Given the description of an element on the screen output the (x, y) to click on. 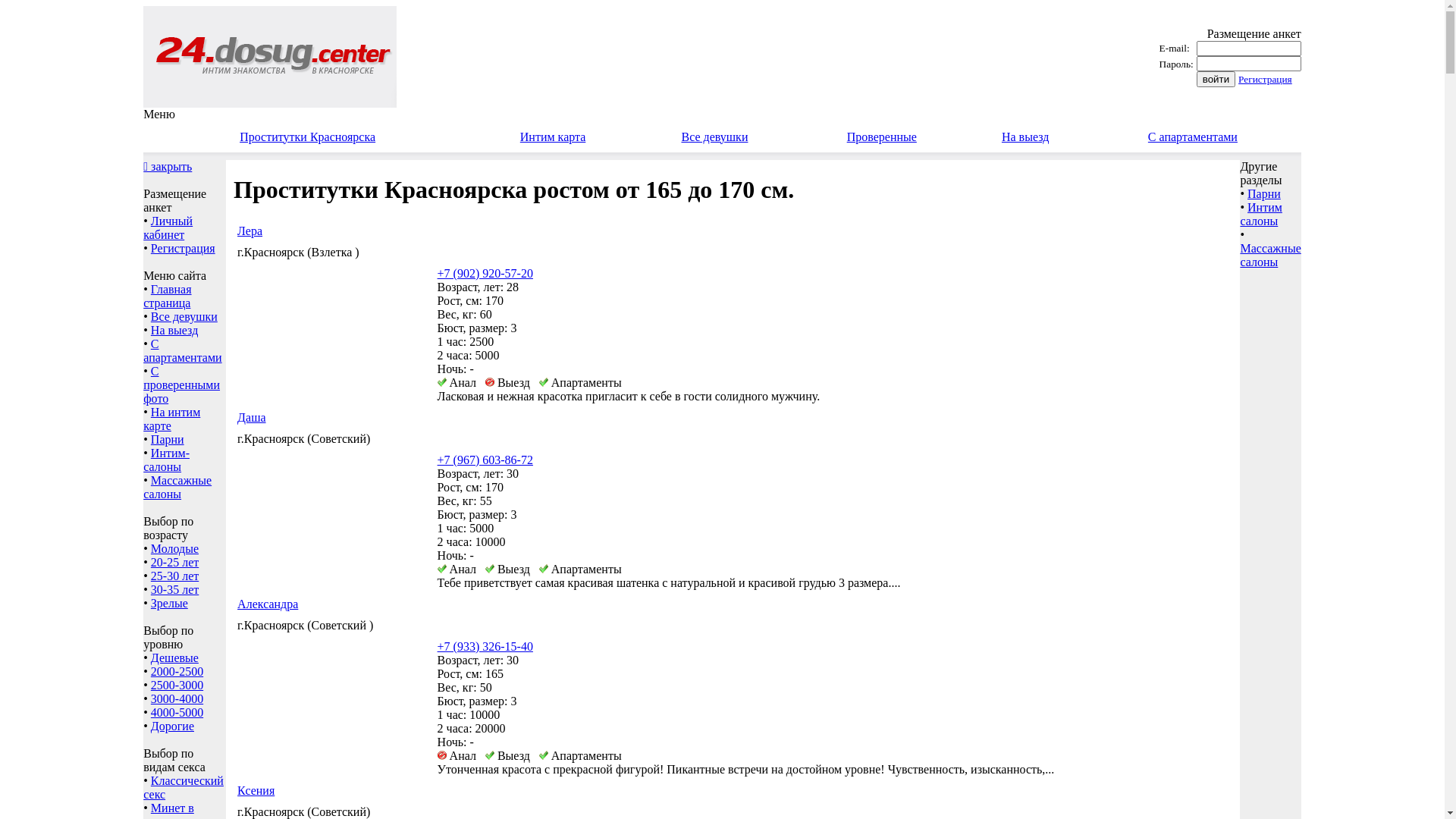
+7 (933) 326-15-40 Element type: text (485, 646)
+7 (967) 603-86-72 Element type: text (485, 459)
3000-4000 Element type: text (176, 698)
+7 (902) 920-57-20 Element type: text (485, 272)
4000-5000 Element type: text (176, 712)
2500-3000 Element type: text (176, 684)
2000-2500 Element type: text (176, 671)
